Given the description of an element on the screen output the (x, y) to click on. 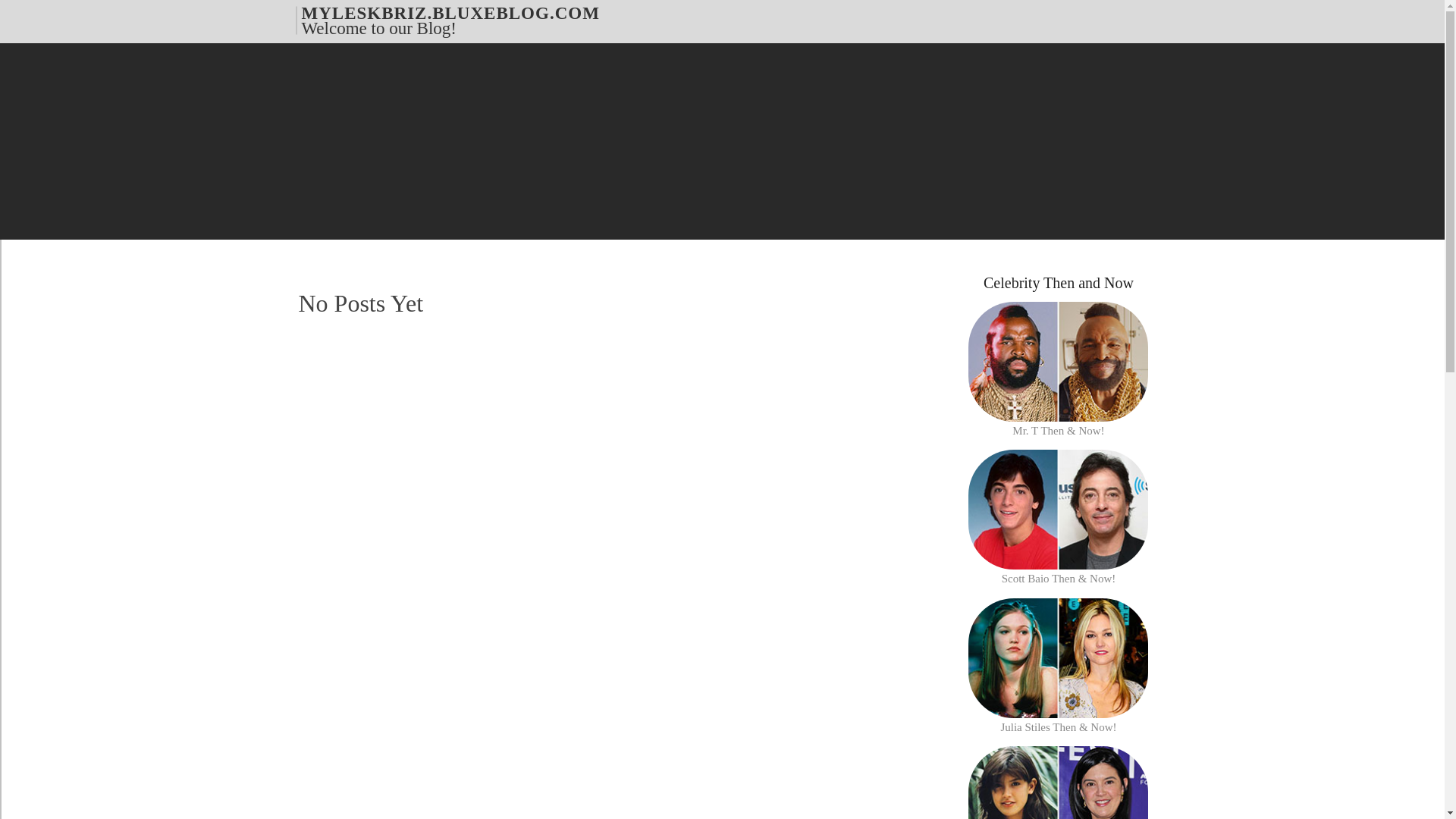
MYLESKBRIZ.BLUXEBLOG.COM (450, 12)
Skip to content (34, 10)
